Given the description of an element on the screen output the (x, y) to click on. 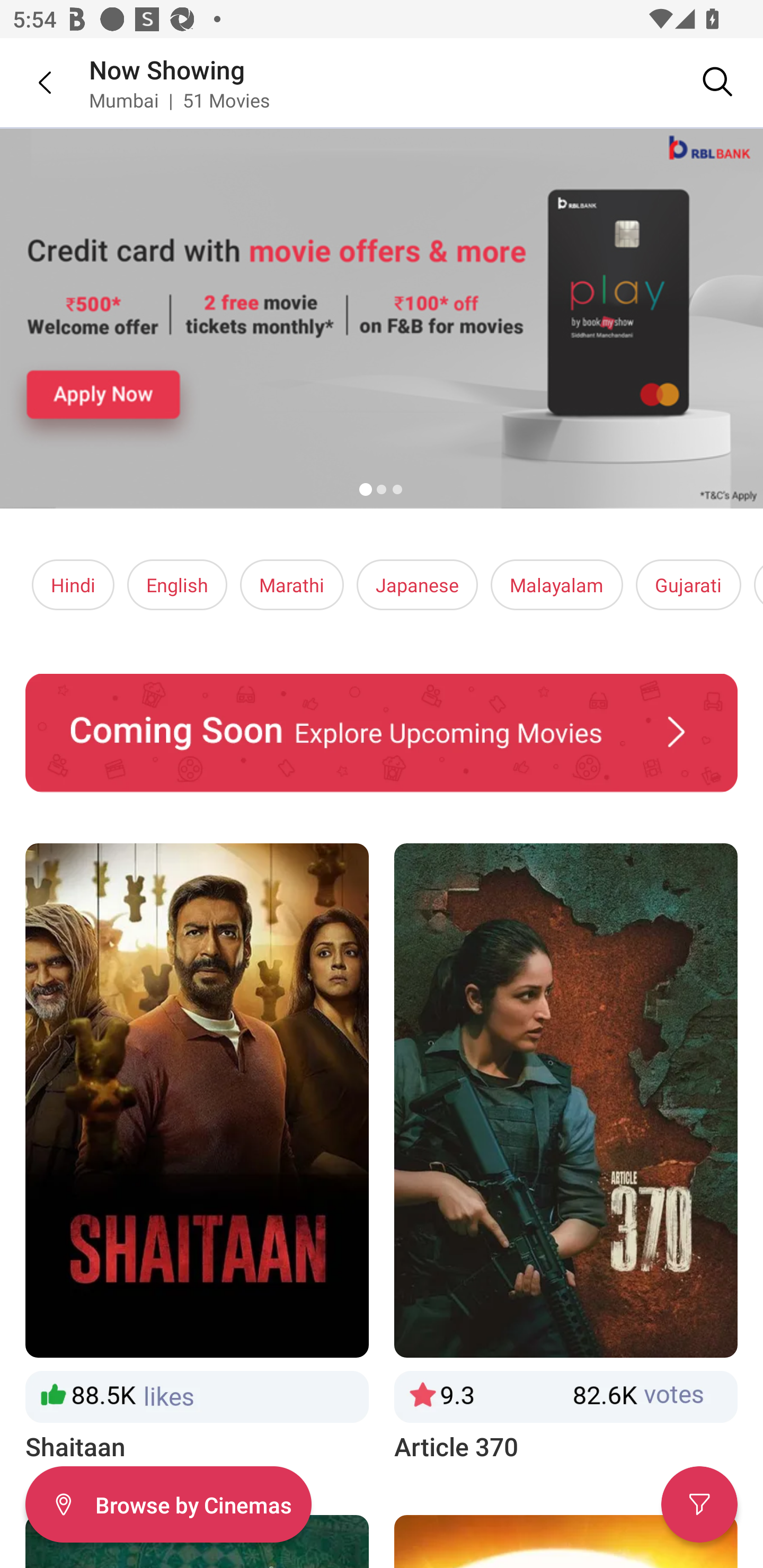
Back (31, 82)
Now Showing (166, 68)
Mumbai  |  51 Movies (179, 99)
Hindi (73, 584)
English (177, 584)
Marathi (292, 584)
Japanese (416, 584)
Malayalam (556, 584)
Gujarati (688, 584)
Shaitaan (196, 1153)
Article 370 (565, 1153)
Filter Browse by Cinemas (168, 1504)
Filter (699, 1504)
